Given the description of an element on the screen output the (x, y) to click on. 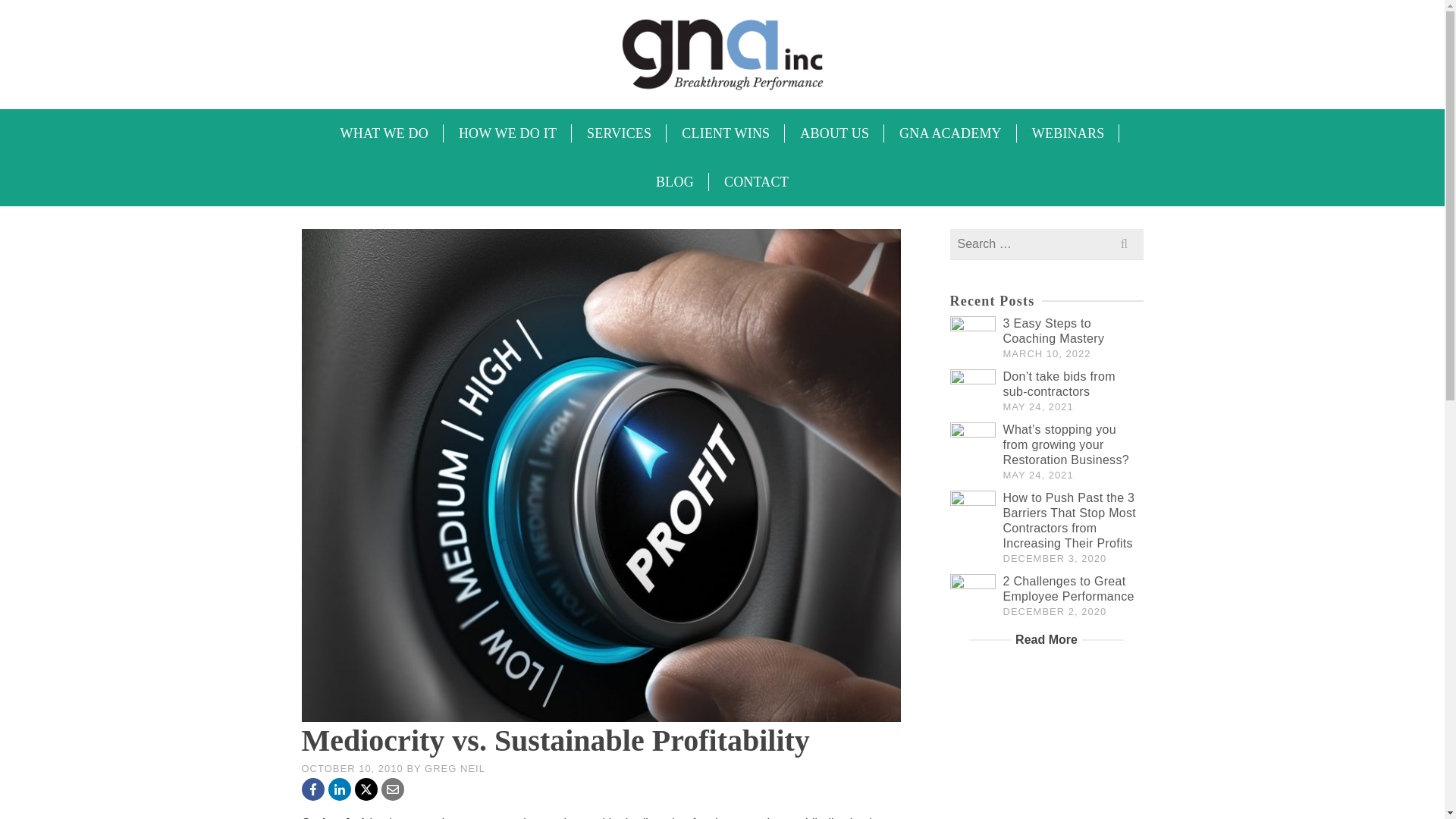
CLIENT WINS (725, 133)
2 Challenges to Great Employee Performance (1068, 588)
HOW WE DO IT (508, 133)
3 Easy Steps to Coaching Mastery (1053, 330)
GREG NEIL (454, 767)
Read More (1045, 639)
WHAT WE DO (384, 133)
SERVICES (619, 133)
BLOG (674, 182)
